Given the description of an element on the screen output the (x, y) to click on. 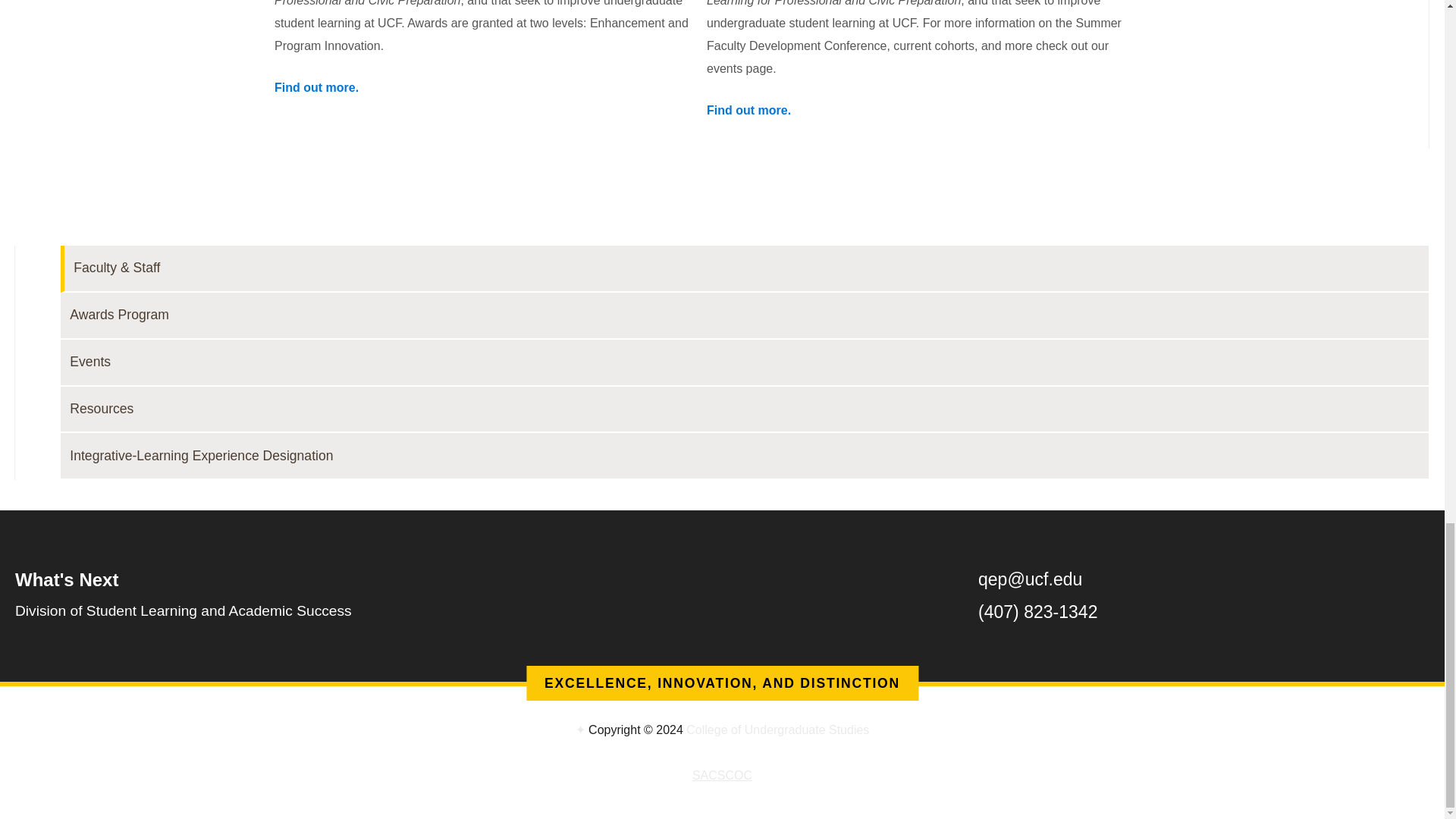
Find out more. (316, 87)
Resources (744, 410)
Integrative-Learning Experience Designation (744, 456)
Events (744, 362)
Find out more. (748, 110)
Awards Program (744, 315)
